Given the description of an element on the screen output the (x, y) to click on. 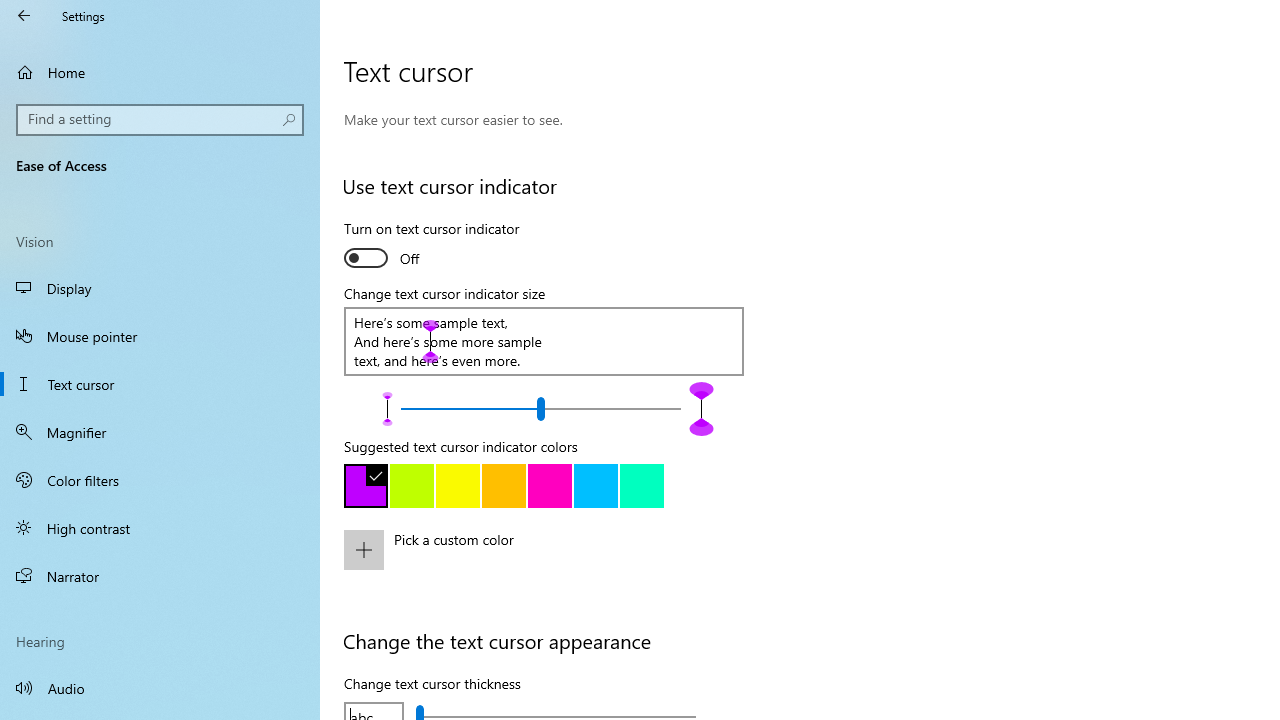
Turquoise (595, 485)
Purple (365, 485)
Lime (411, 485)
Green (641, 485)
Pink (549, 485)
